Given the description of an element on the screen output the (x, y) to click on. 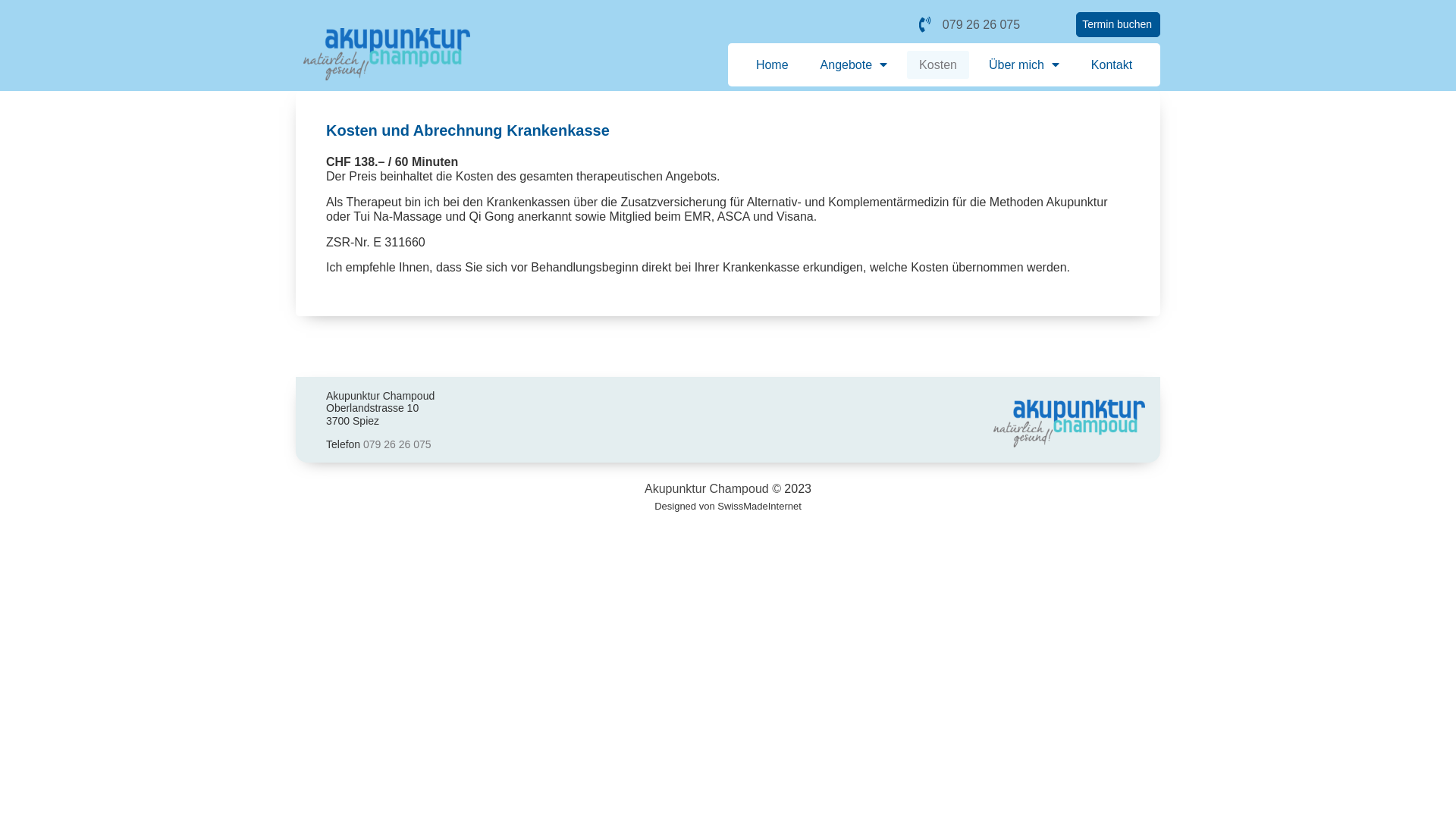
Designed von SwissMadeInternet Element type: text (727, 505)
Kosten Element type: text (937, 64)
Kontakt Element type: text (1111, 64)
079 26 26 075 Element type: text (397, 444)
Logo-v2-320px Element type: hover (386, 53)
Logo-v2-320px Element type: hover (1069, 423)
Termin buchen Element type: text (1118, 24)
079 26 26 075 Element type: text (969, 24)
Angebote Element type: text (854, 64)
Home Element type: text (771, 64)
